Given the description of an element on the screen output the (x, y) to click on. 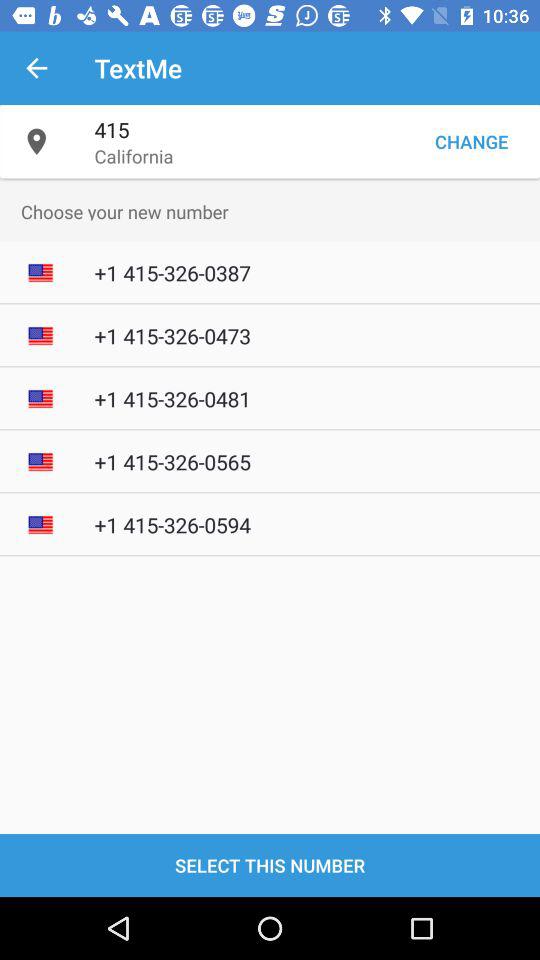
select the change icon (471, 141)
